Given the description of an element on the screen output the (x, y) to click on. 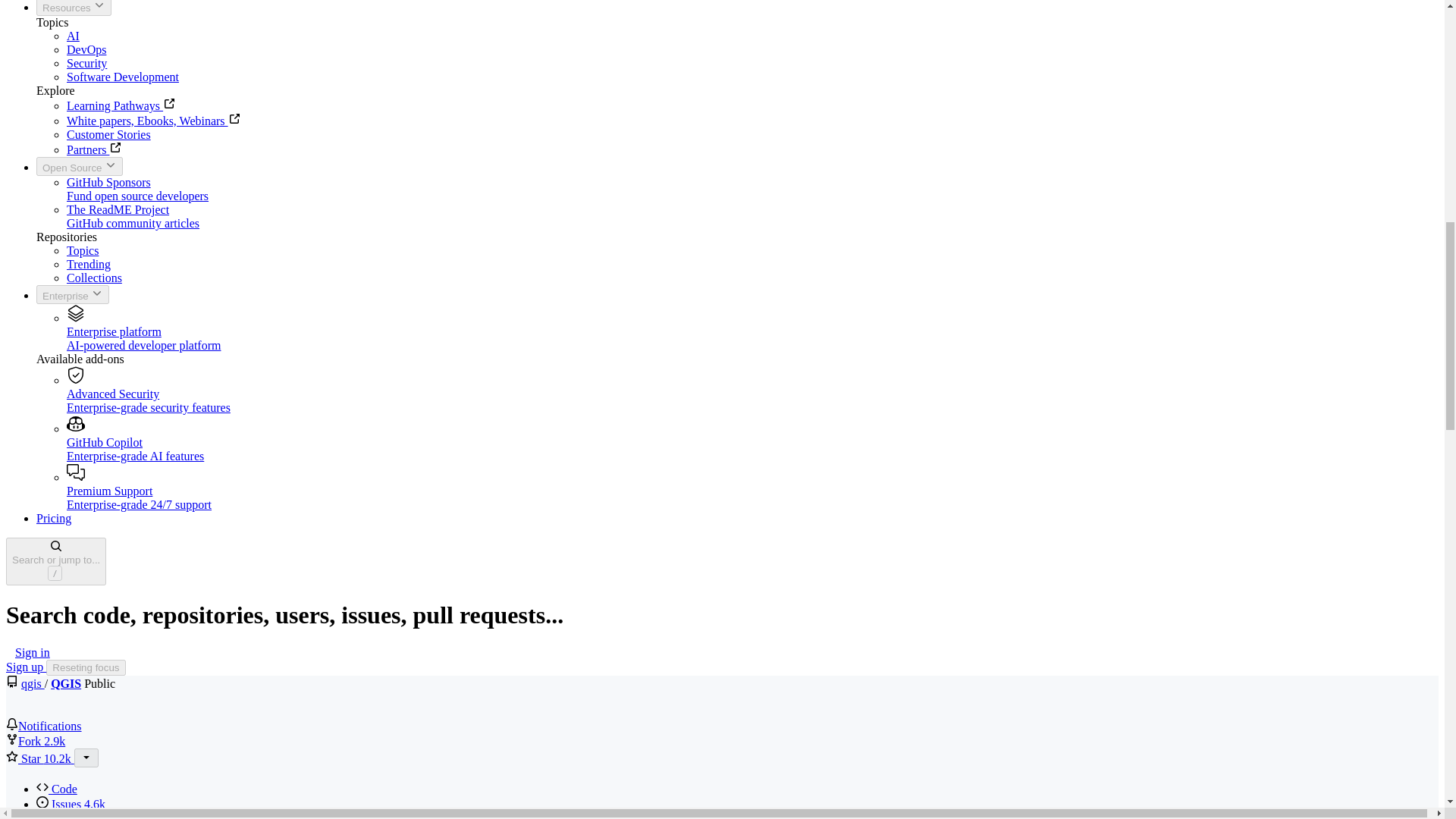
10,198 (57, 758)
4,586 (94, 803)
DevOps (86, 49)
Open Source (752, 189)
Resources (79, 166)
2,941 (74, 7)
Learning Pathways (54, 740)
AI (120, 105)
Partners (73, 35)
